Given the description of an element on the screen output the (x, y) to click on. 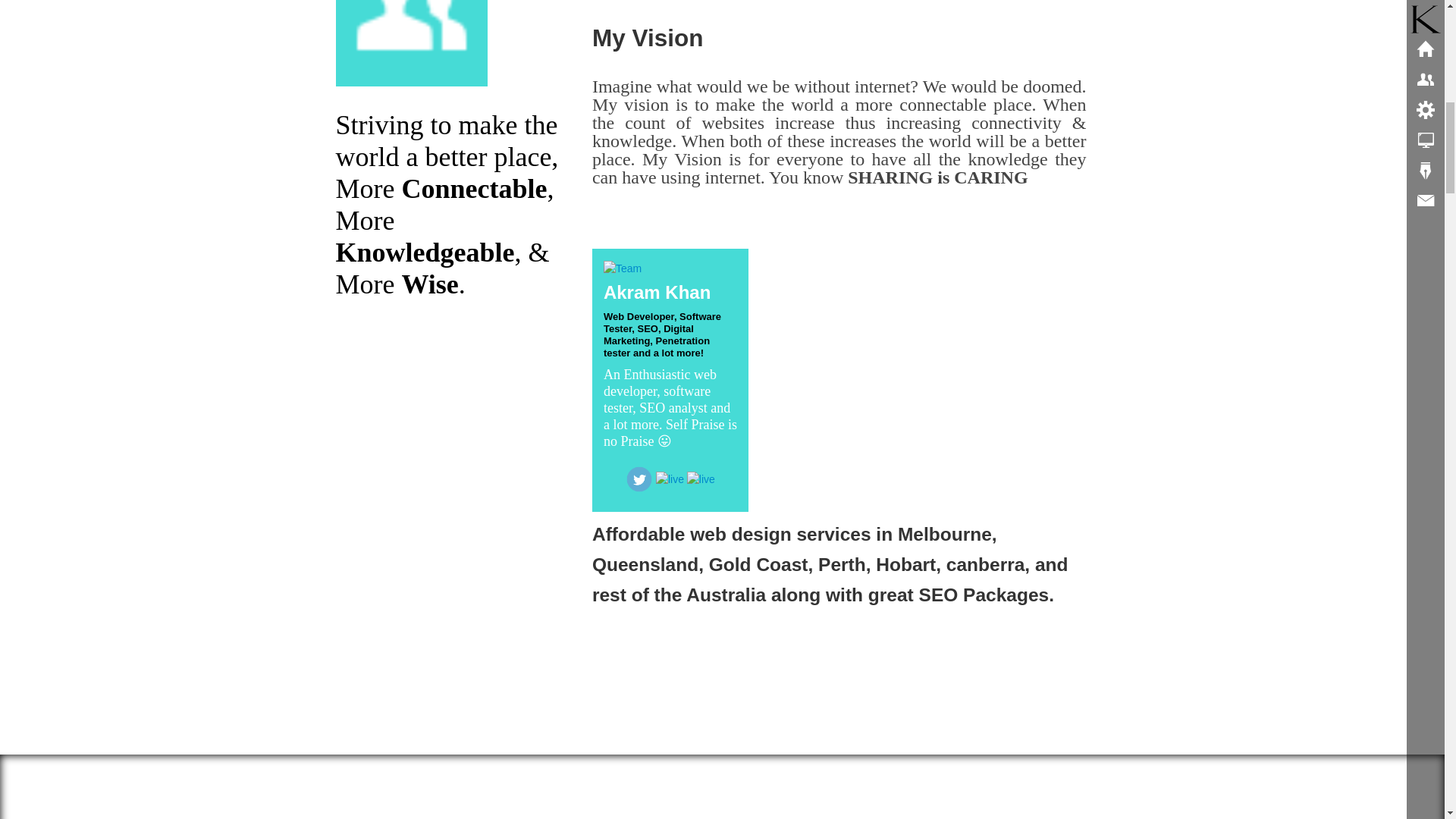
Team (623, 268)
Twitter (639, 479)
designova live (410, 43)
